Given the description of an element on the screen output the (x, y) to click on. 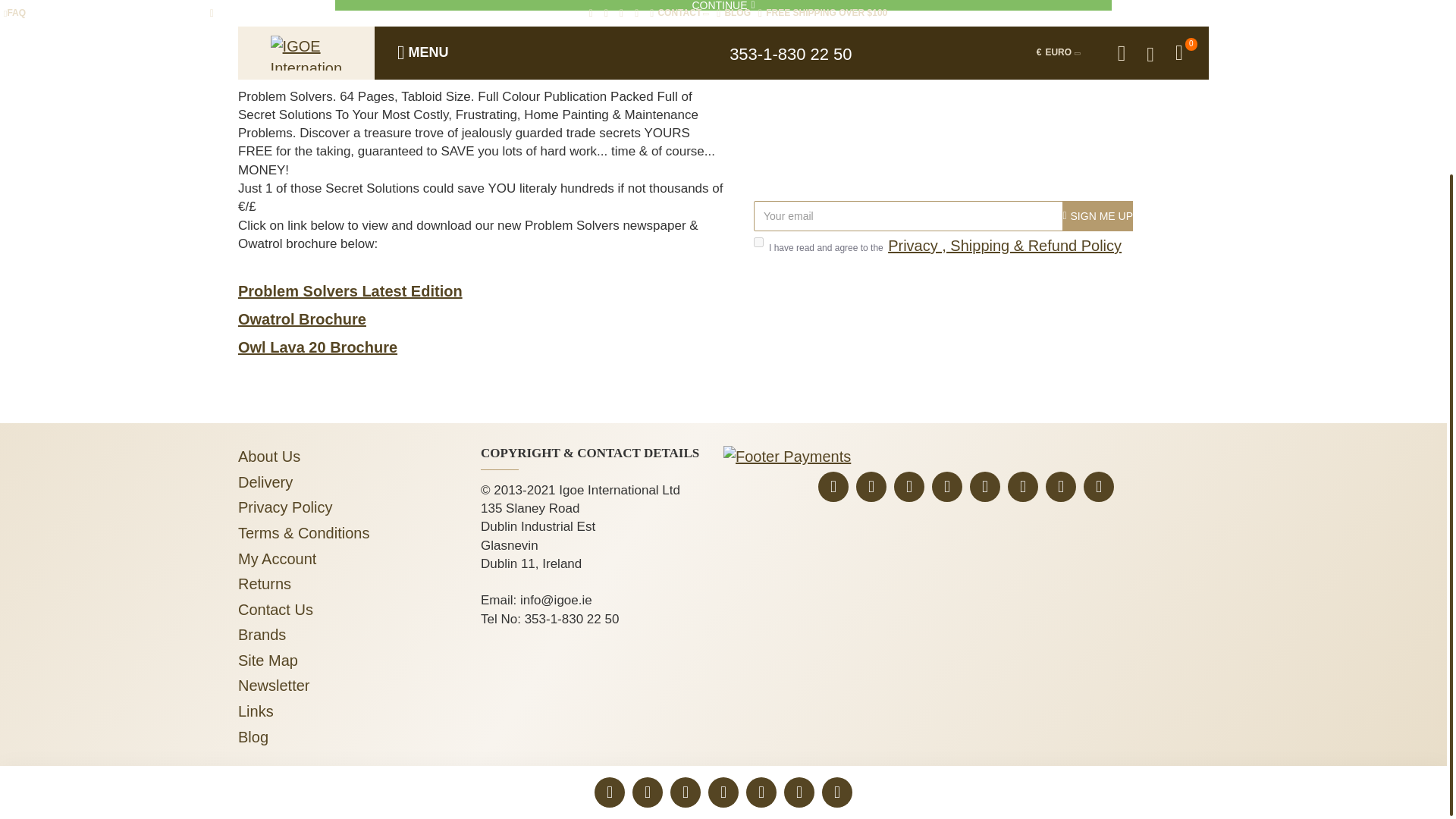
YouTube (946, 486)
Instagram (984, 486)
Facebook (908, 486)
1 (758, 242)
LinkTree Igoe (833, 486)
TikTok (1022, 486)
Twitter (871, 486)
